Given the description of an element on the screen output the (x, y) to click on. 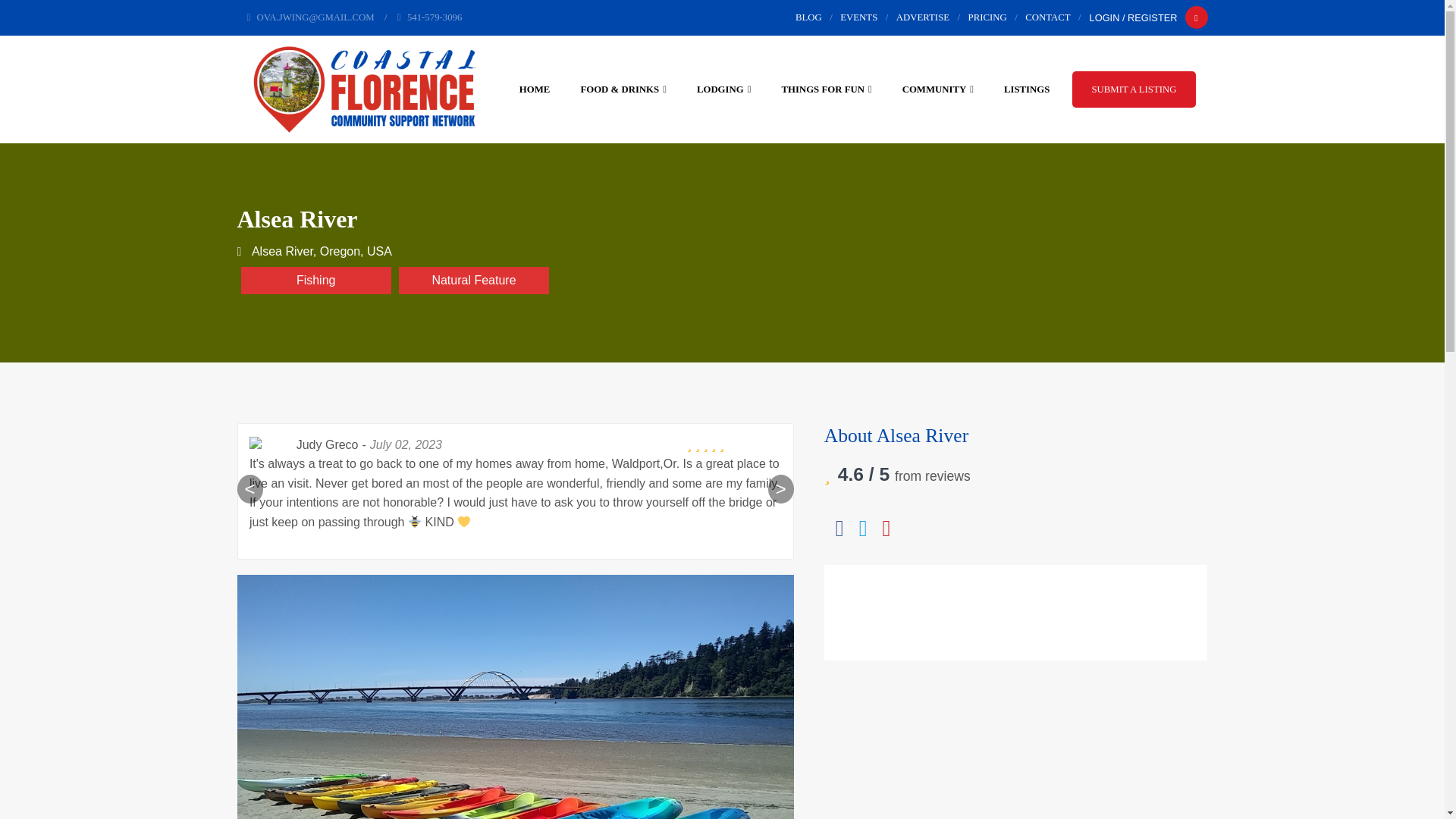
COMMUNITY (938, 89)
CONTACT (1047, 17)
THINGS FOR FUN (826, 89)
PRICING (987, 17)
HOME (534, 89)
LODGING (723, 89)
BLOG (808, 17)
Click to share this post on Twitter (863, 529)
541-579-3096 (429, 17)
EVENTS (858, 17)
